Given the description of an element on the screen output the (x, y) to click on. 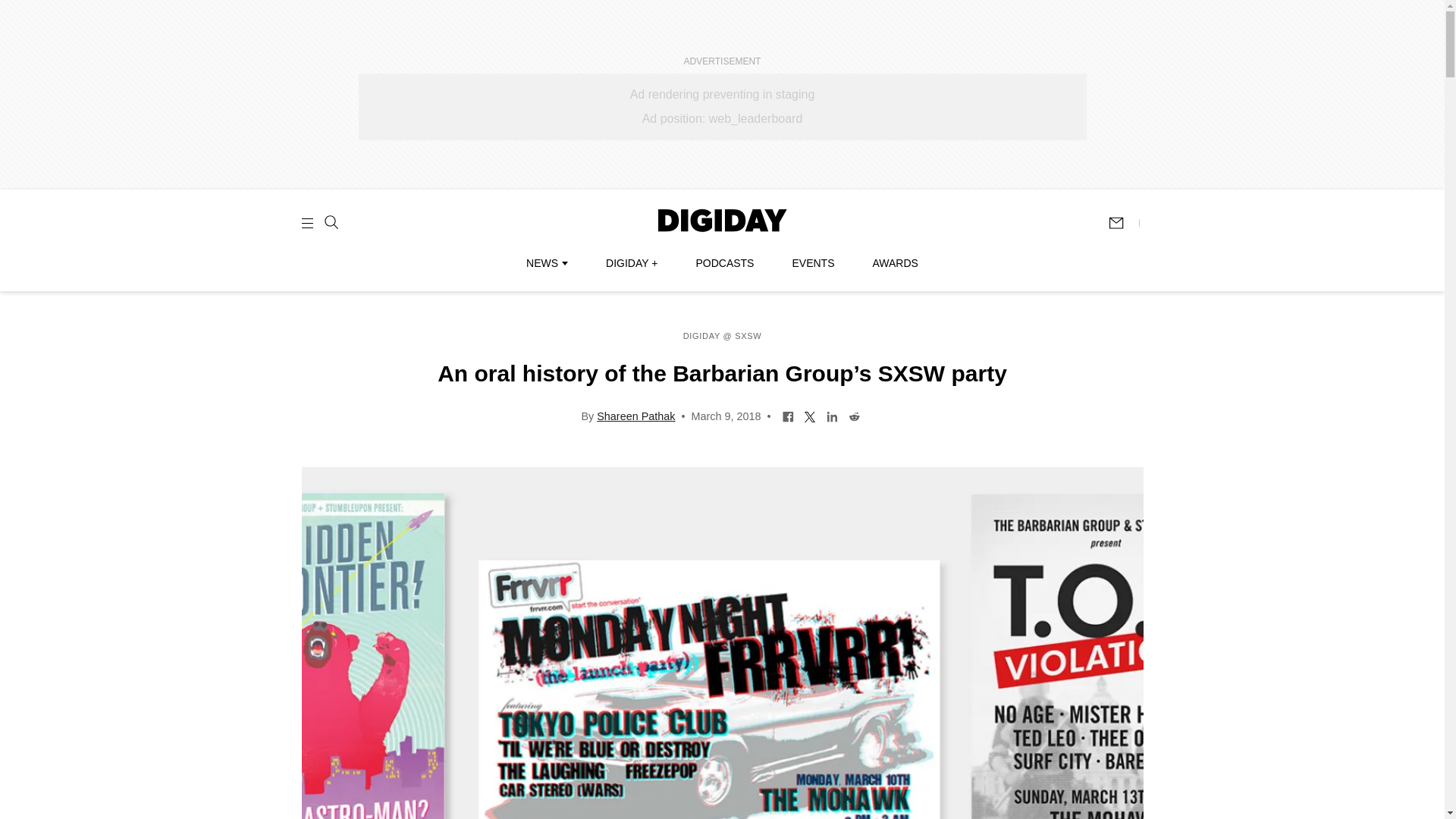
Share on Facebook (787, 415)
AWARDS (894, 262)
PODCASTS (725, 262)
Share on Twitter (809, 415)
Share on LinkedIn (831, 415)
Subscribe (1123, 223)
EVENTS (813, 262)
Share on Reddit (853, 415)
NEWS (546, 262)
